Given the description of an element on the screen output the (x, y) to click on. 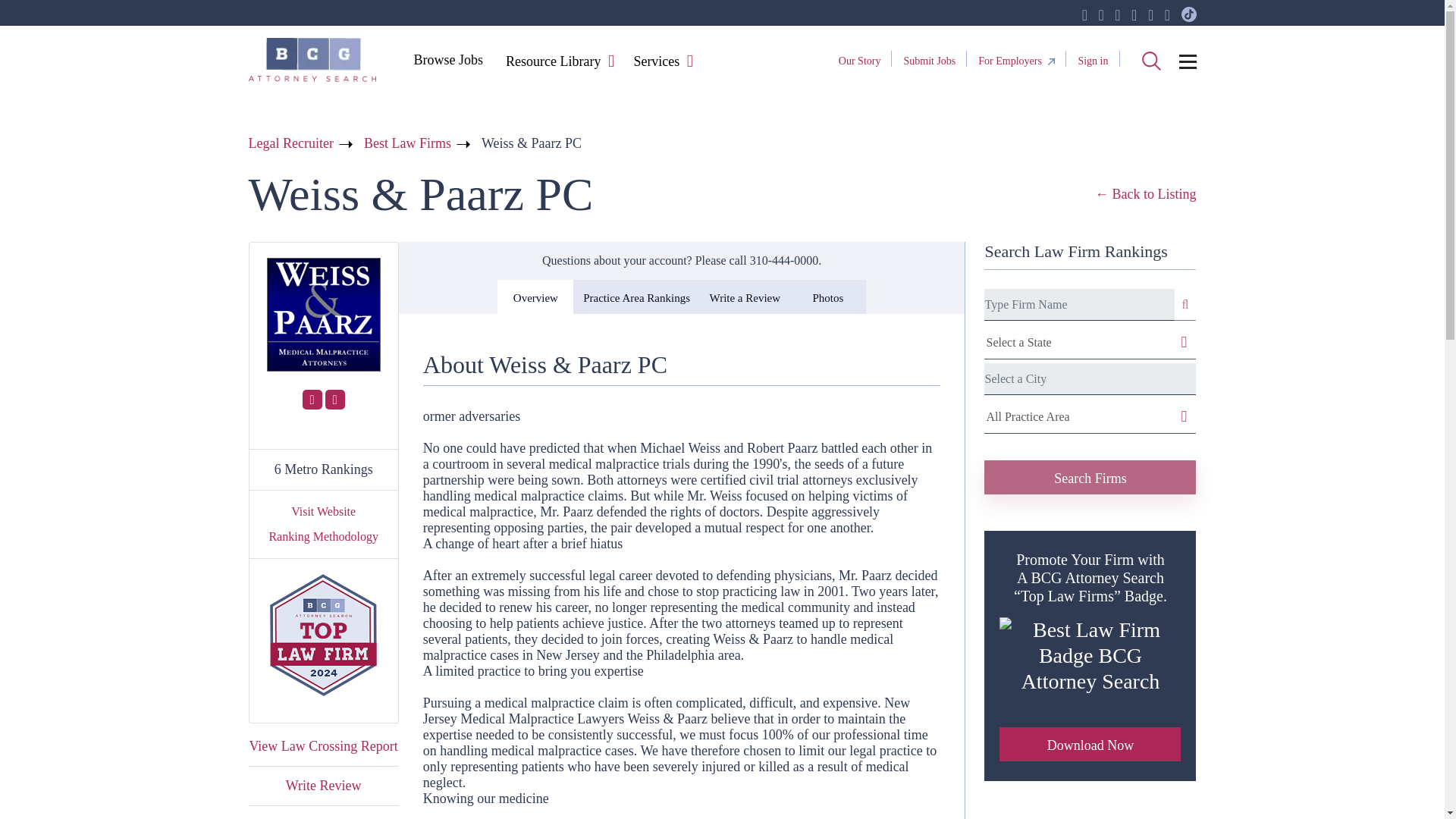
BCG Attorney Search Tiktok (1188, 14)
Services (655, 62)
Browse Jobs (448, 59)
Resource Library (553, 62)
